Given the description of an element on the screen output the (x, y) to click on. 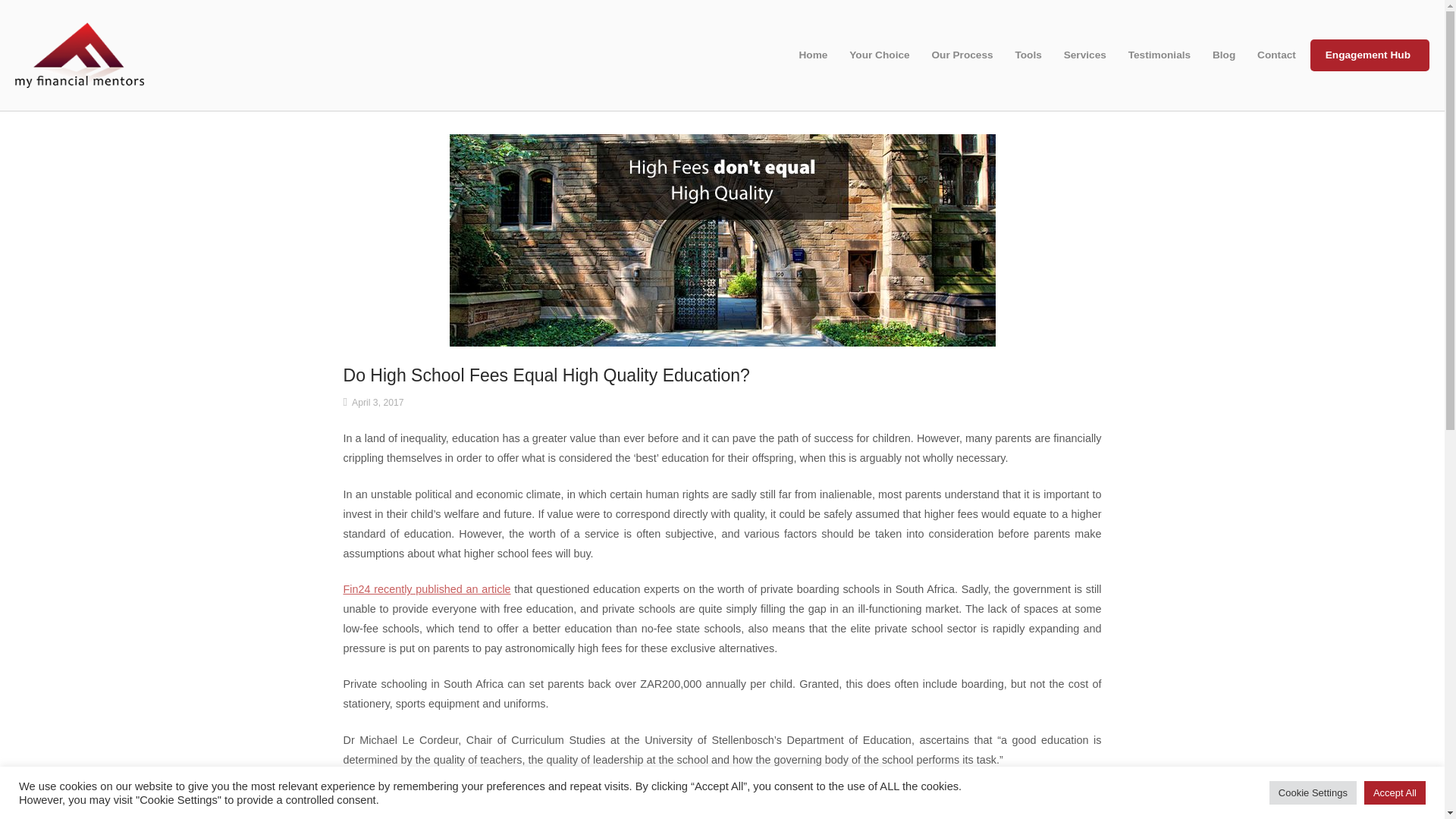
Your Choice (880, 54)
Cookie Settings (1312, 792)
Services (1087, 54)
Testimonials (1161, 54)
Our Process (963, 54)
Blog (1225, 54)
April 3, 2017 (378, 402)
Fin24 recently published an article (426, 589)
Home (814, 54)
Home (79, 54)
Engagement Hub (1369, 54)
Accept All (1394, 792)
Contact (1278, 54)
Tools (1029, 54)
